Given the description of an element on the screen output the (x, y) to click on. 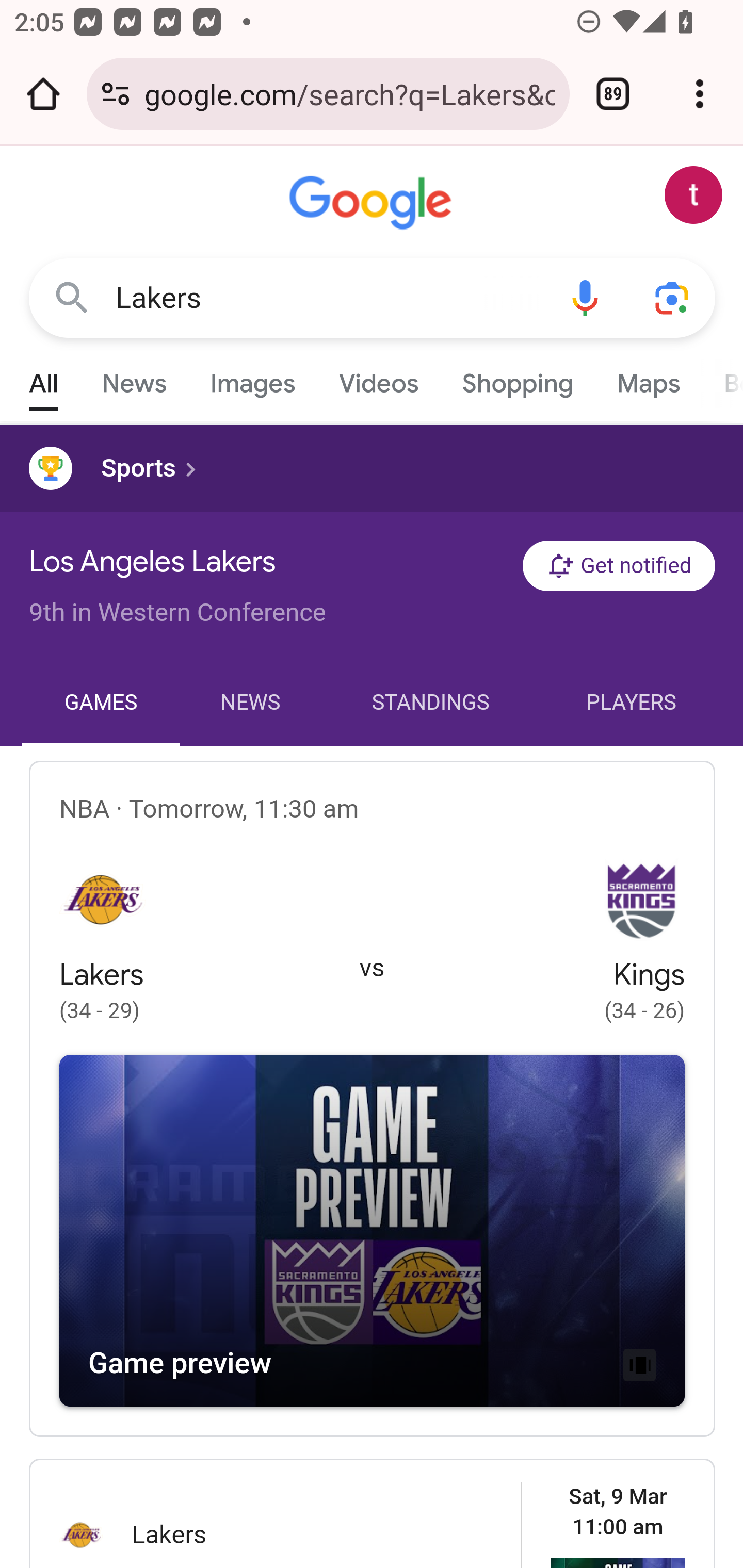
Open the home page (43, 93)
Connection is secure (115, 93)
Switch or close tabs (612, 93)
Customize and control Google Chrome (699, 93)
Google (372, 203)
Google Search (71, 296)
Search using your camera or photos (672, 296)
Lakers (328, 297)
News (134, 378)
Images (252, 378)
Videos (378, 378)
Shopping (516, 378)
Maps (647, 378)
Sports (371, 467)
Get notifications about Los Angeles Lakers (618, 565)
GAMES (101, 702)
NEWS (249, 702)
STANDINGS (430, 702)
PLAYERS (631, 702)
